Given the description of an element on the screen output the (x, y) to click on. 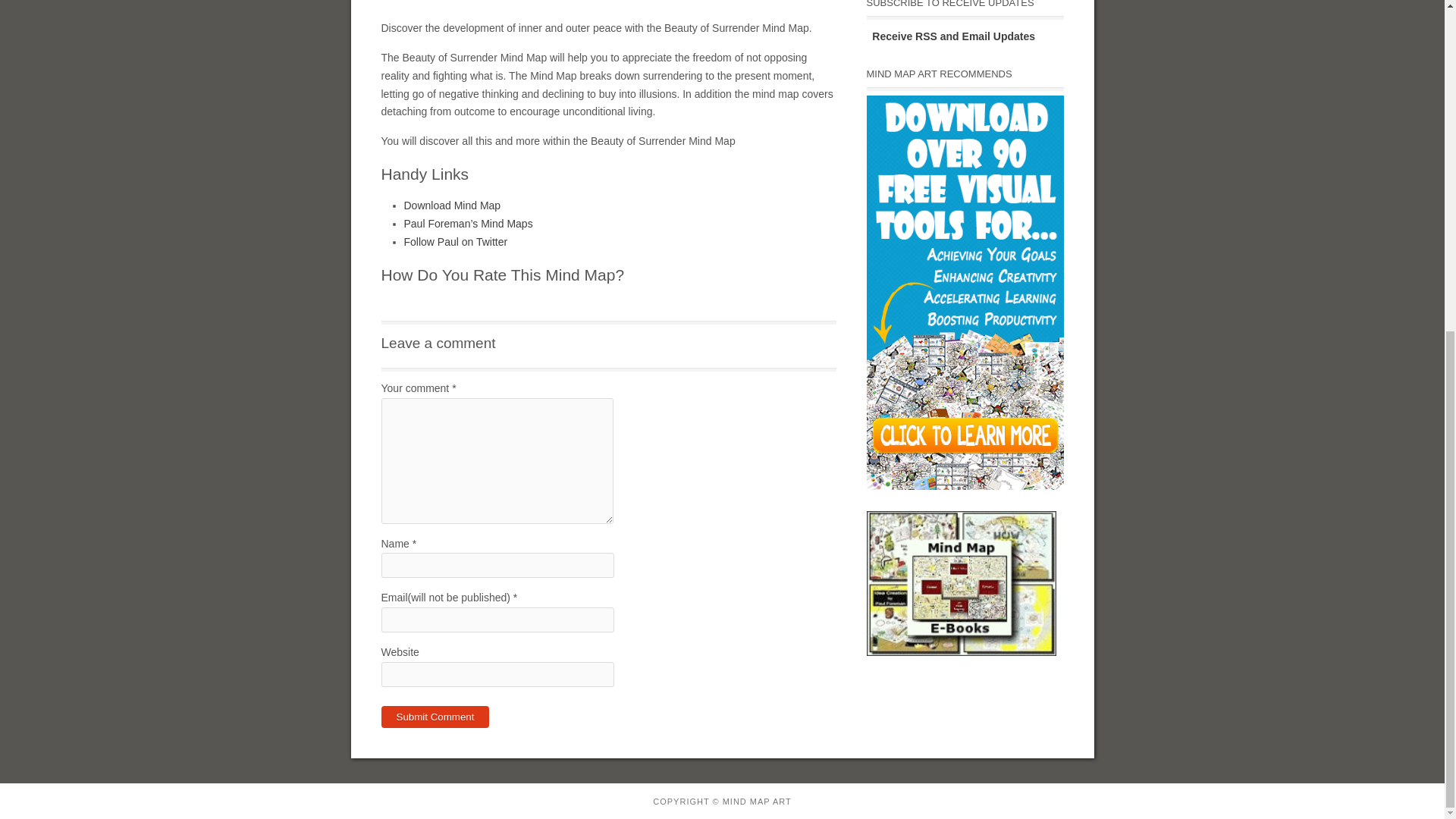
Mind Map eBooks by Paul Foreman (960, 583)
Submit Comment (434, 716)
Beauty of Surrender Mind Map by Paul Foreman (607, 4)
